Given the description of an element on the screen output the (x, y) to click on. 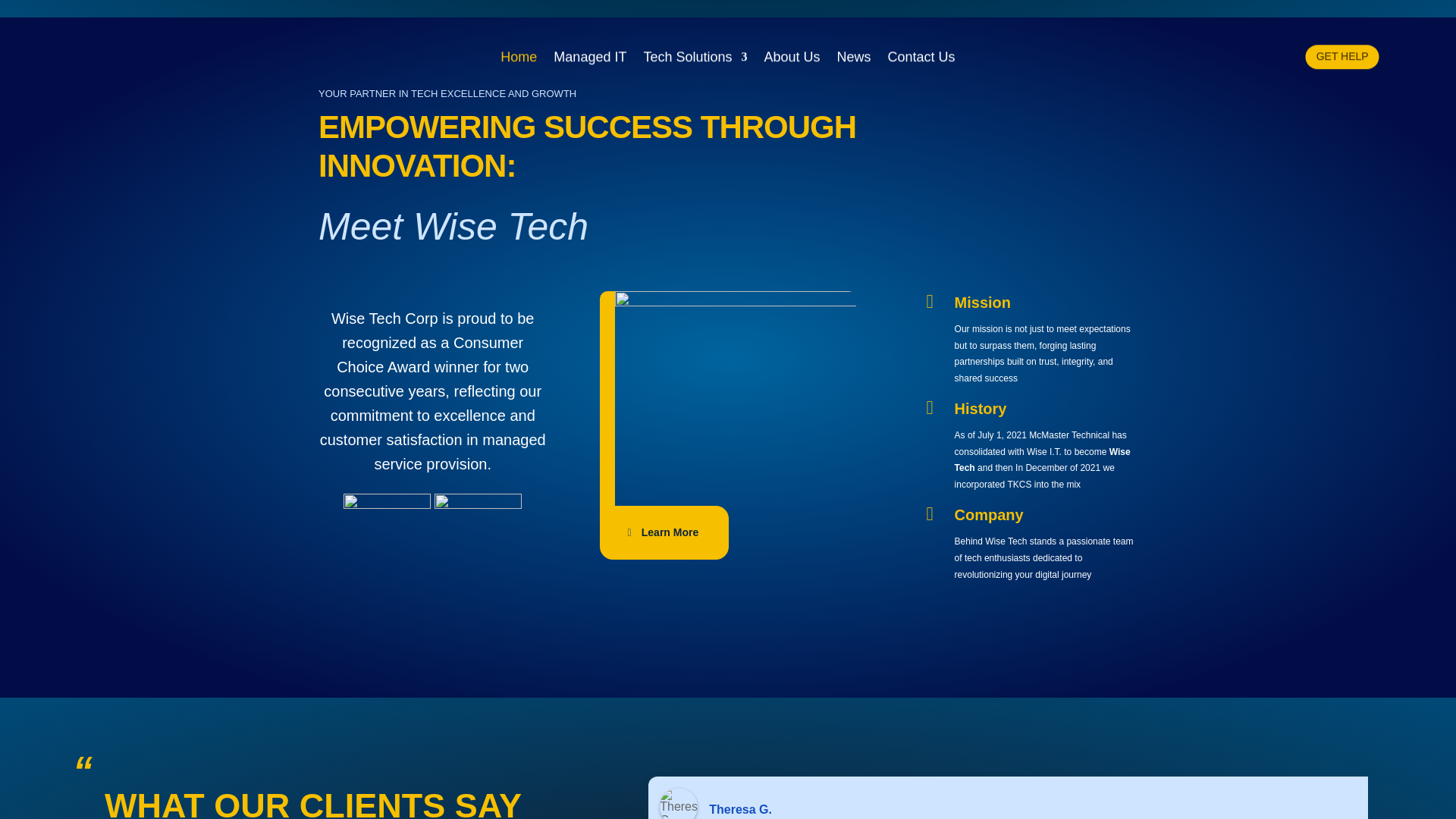
YOUR PARTNER IN TECH EXCELLENCE AND GROWTH (727, 93)
YOUR PARTNER IN TECH EXCELLENCE AND GROWTH (727, 93)
